Given the description of an element on the screen output the (x, y) to click on. 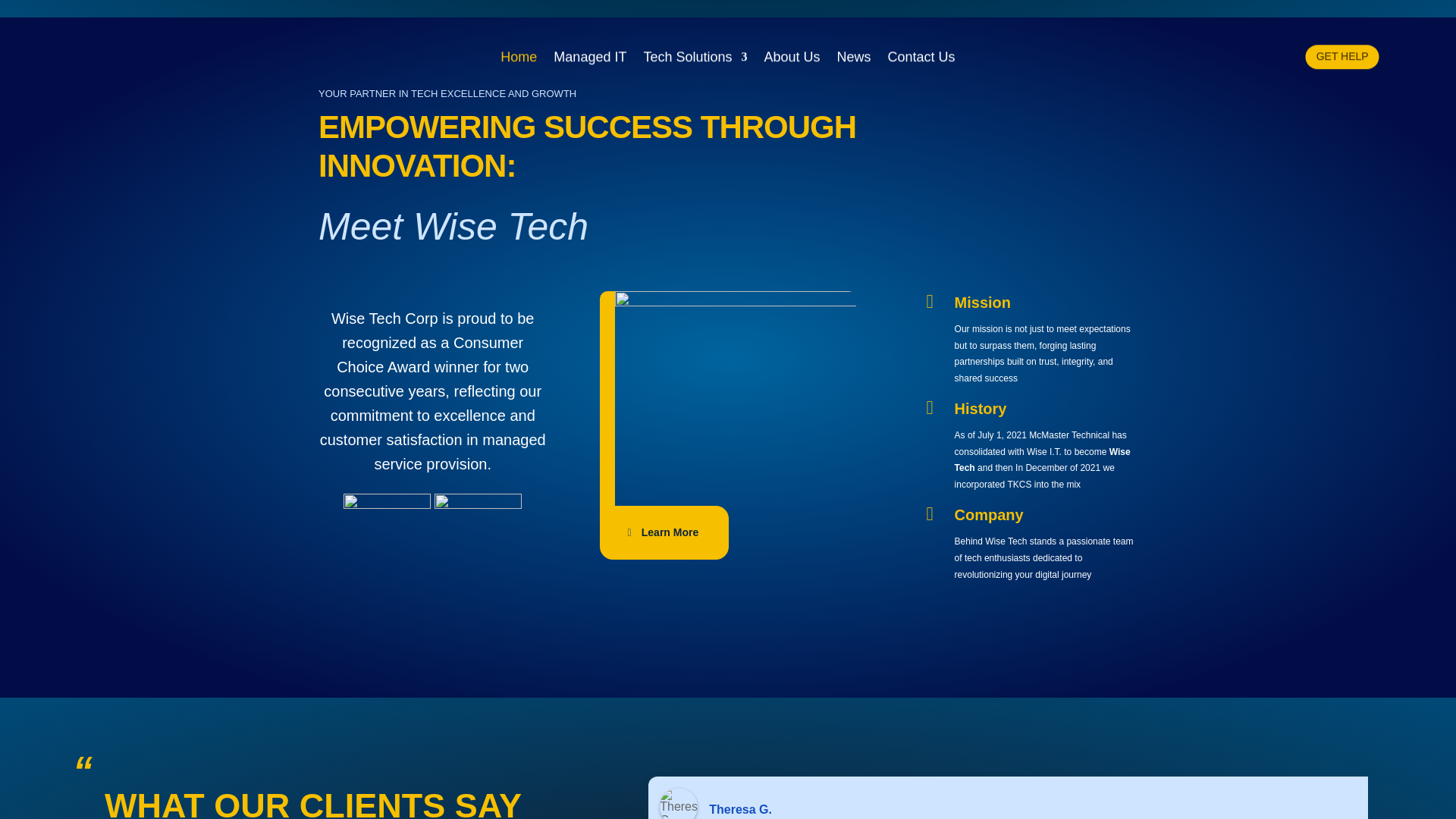
YOUR PARTNER IN TECH EXCELLENCE AND GROWTH (727, 93)
YOUR PARTNER IN TECH EXCELLENCE AND GROWTH (727, 93)
